Given the description of an element on the screen output the (x, y) to click on. 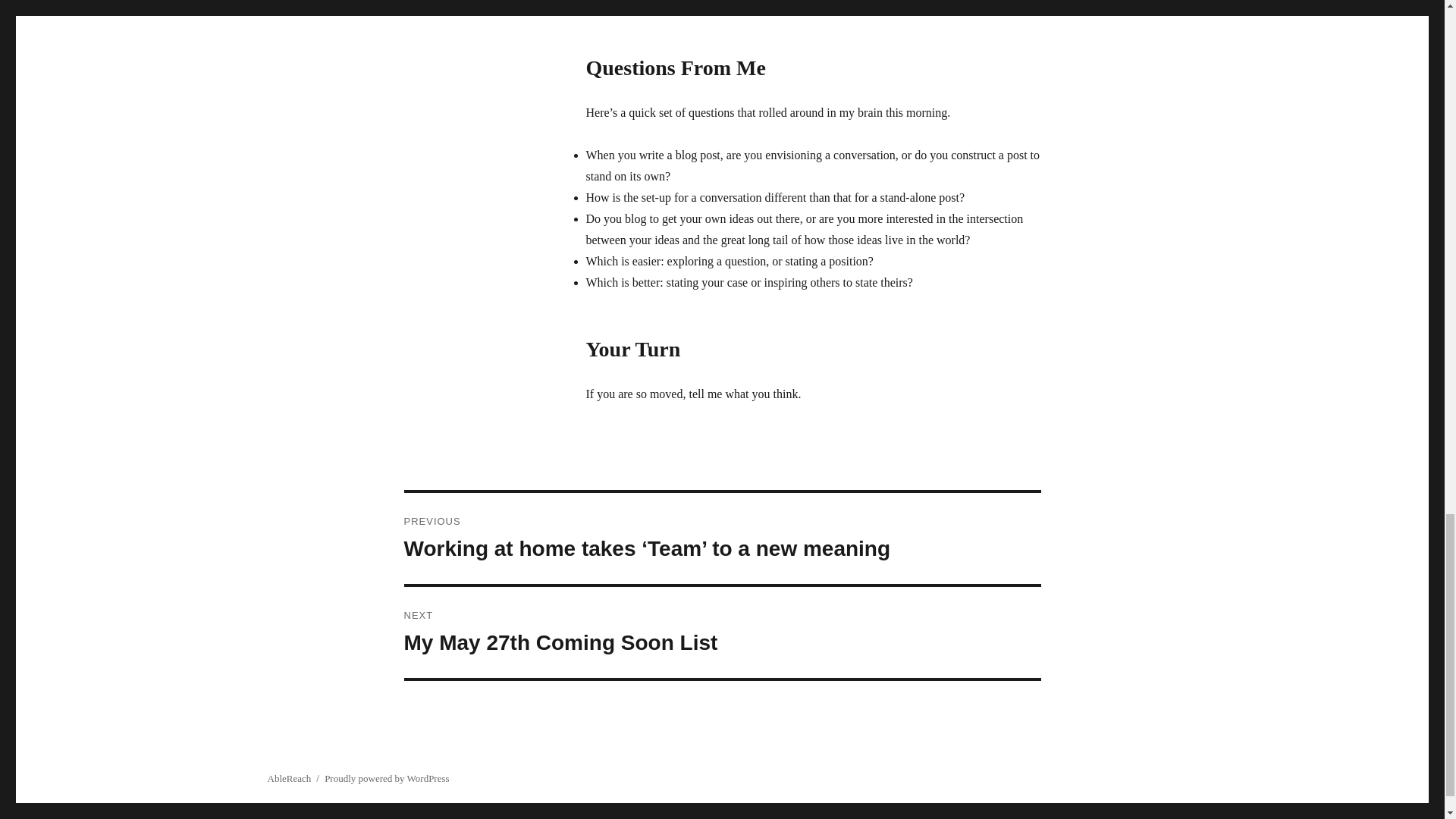
AbleReach (722, 632)
Proudly powered by WordPress (288, 778)
